Given the description of an element on the screen output the (x, y) to click on. 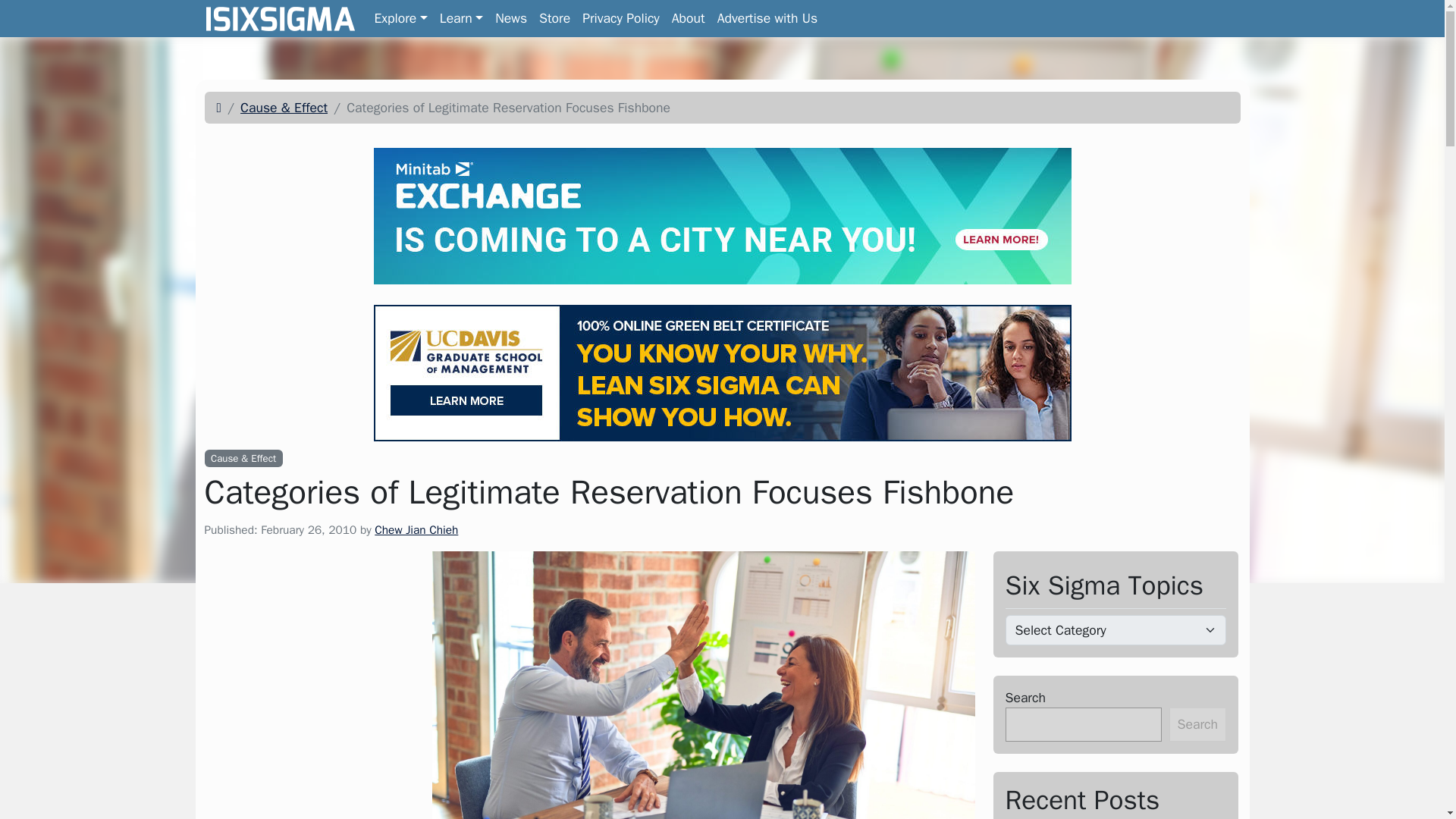
Learn (461, 18)
Posts by Chew Jian Chieh (416, 529)
Explore (400, 18)
